Given the description of an element on the screen output the (x, y) to click on. 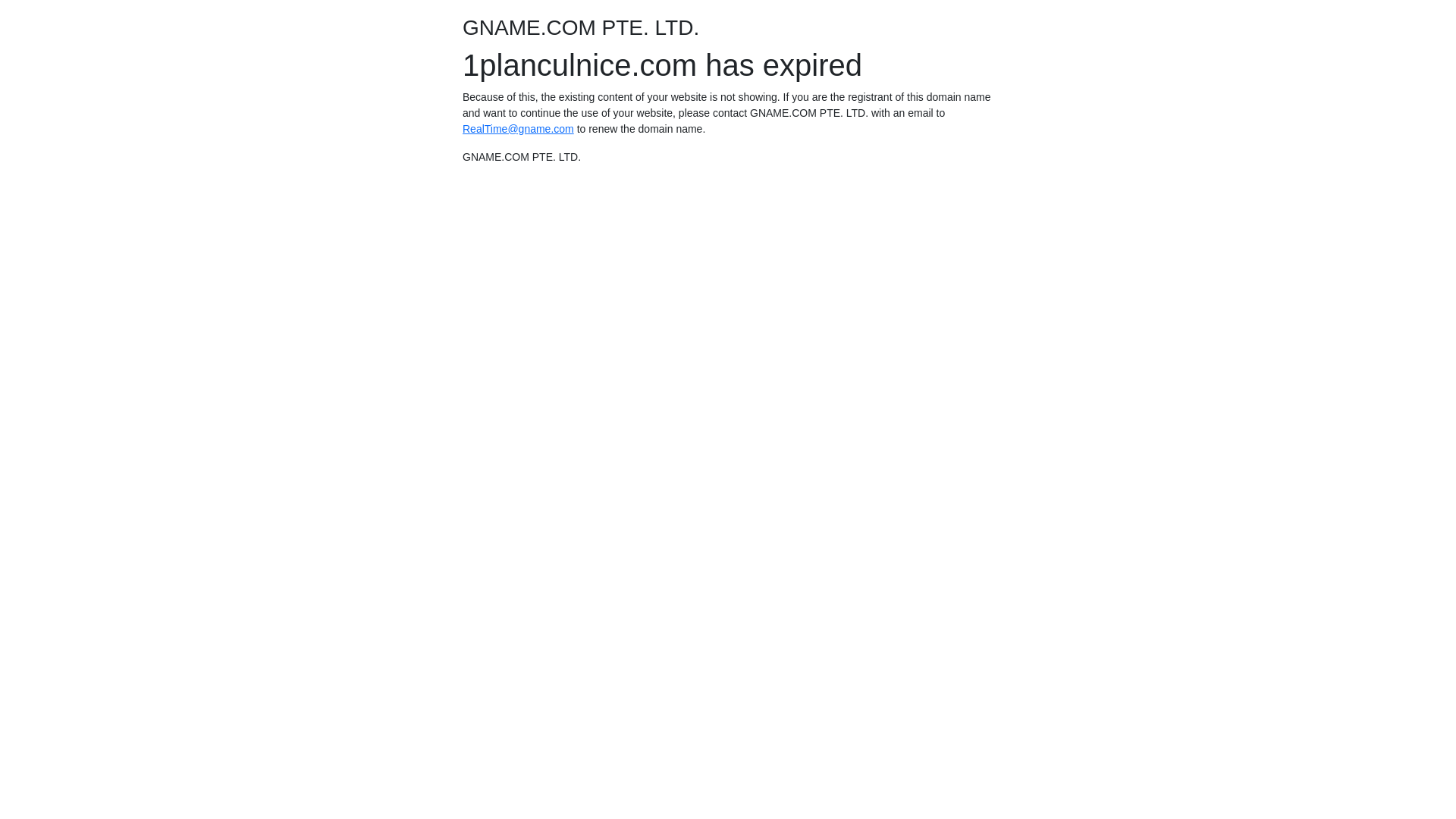
RealTime@gname.com Element type: text (518, 128)
